Given the description of an element on the screen output the (x, y) to click on. 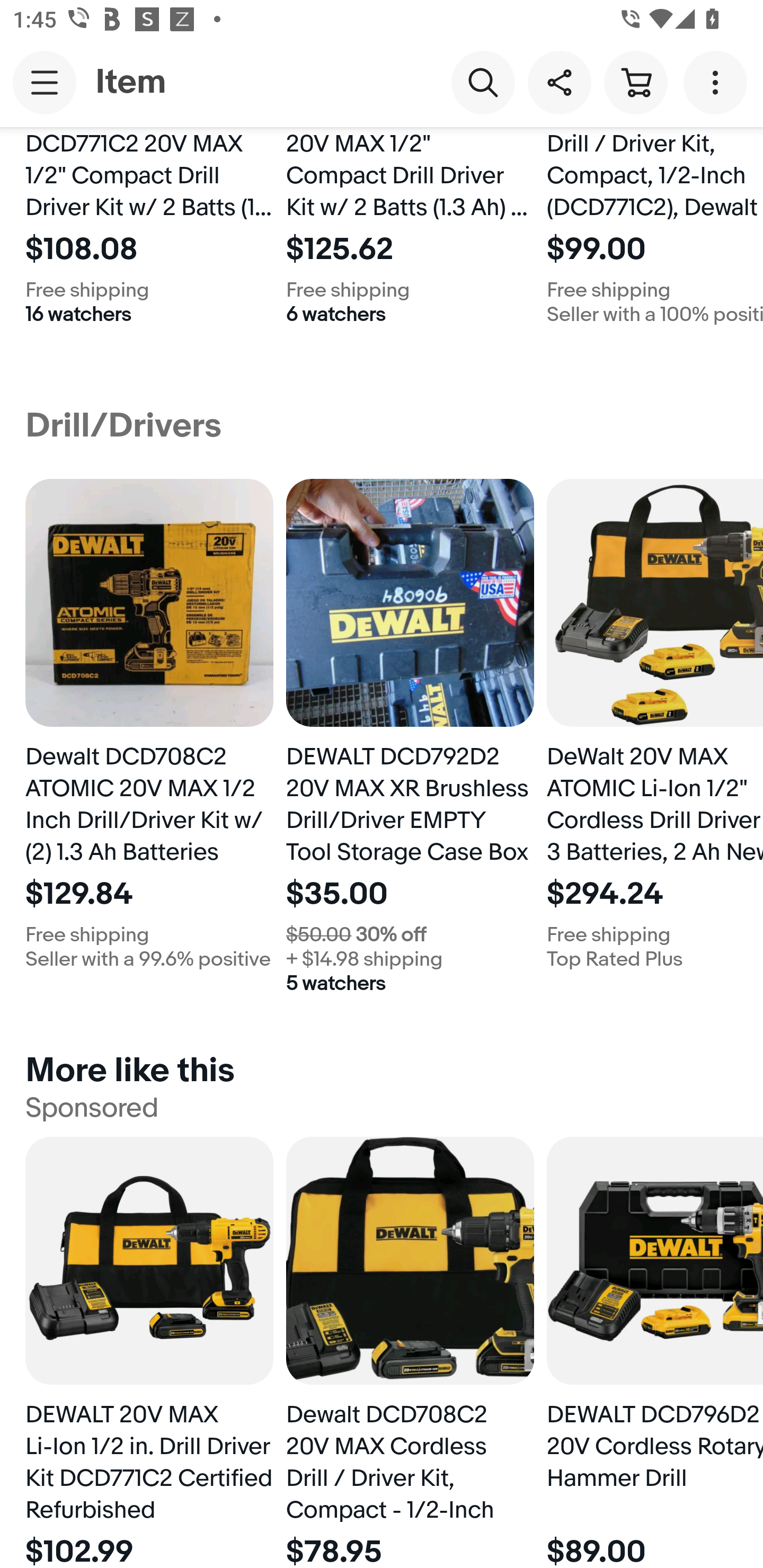
Main navigation, open (44, 82)
Search (482, 81)
Share this item (559, 81)
Cart button shopping cart (635, 81)
More options (718, 81)
